Given the description of an element on the screen output the (x, y) to click on. 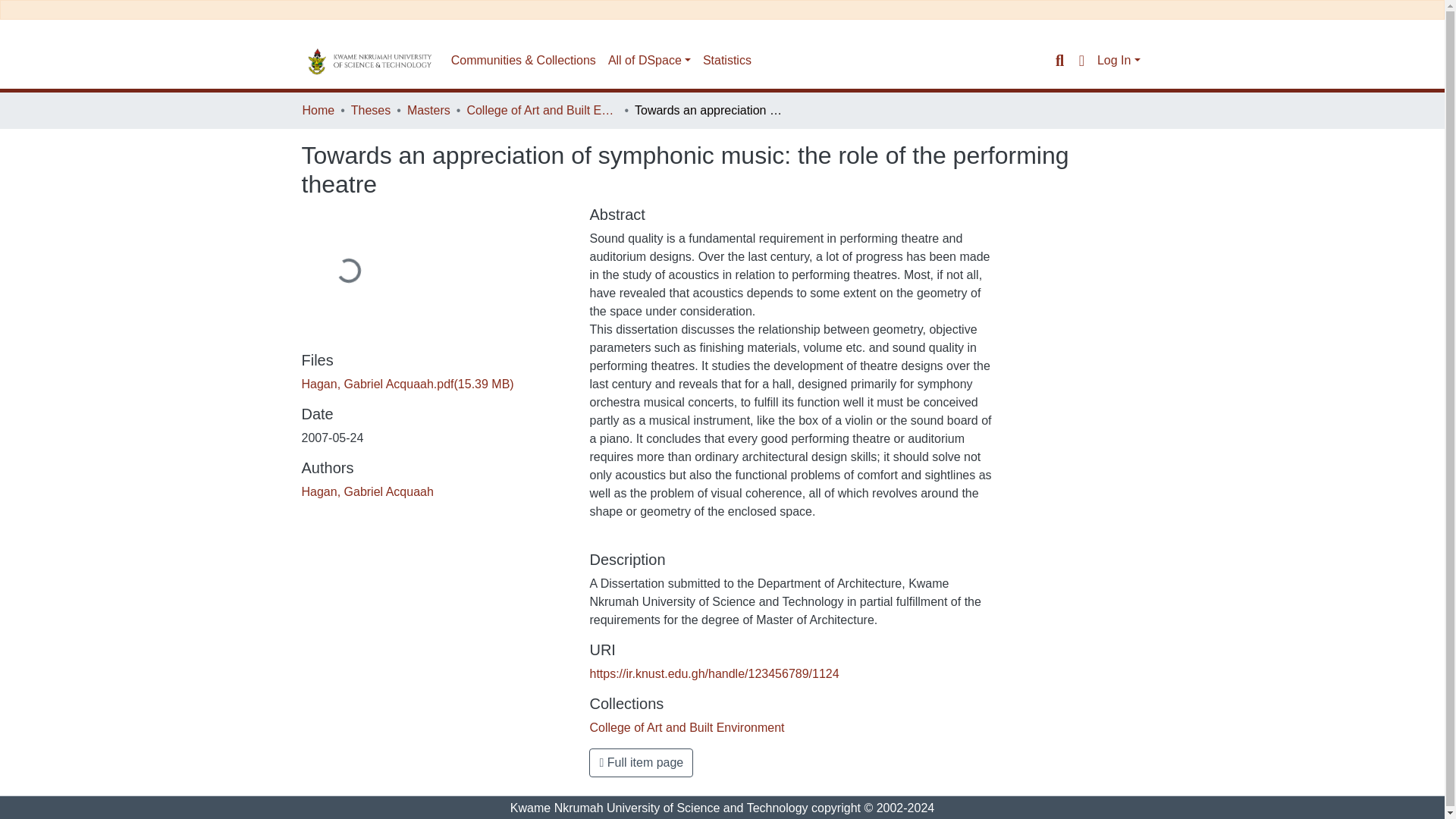
Hagan, Gabriel Acquaah (367, 491)
Language switch (1081, 60)
Log In (1118, 60)
Search (1058, 60)
All of DSpace (649, 60)
Kwame Nkrumah University of Science and Technology (659, 807)
Statistics (727, 60)
Home (317, 110)
Theses (370, 110)
College of Art and Built Environment (541, 110)
